Given the description of an element on the screen output the (x, y) to click on. 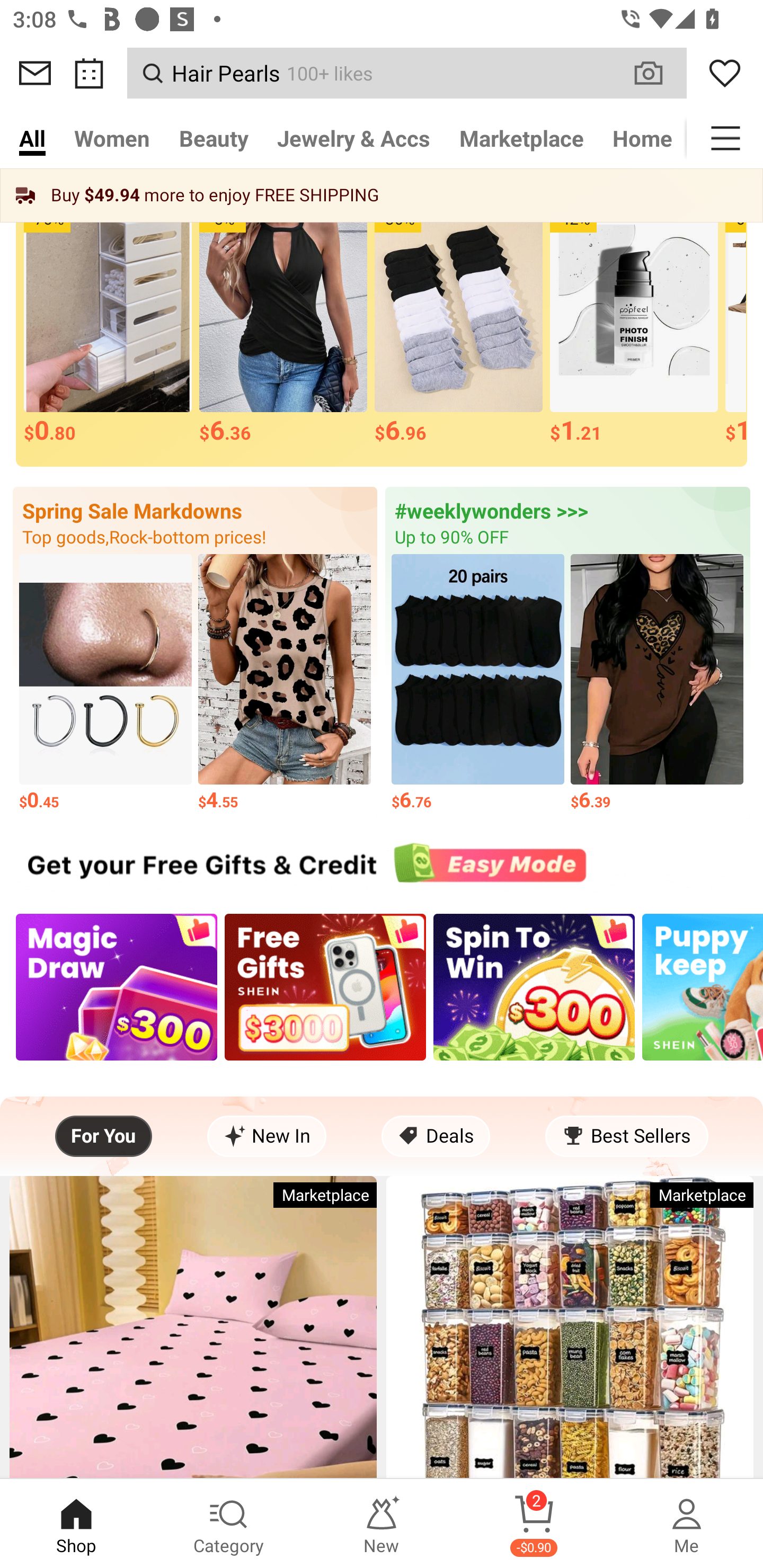
Wishlist (724, 72)
VISUAL SEARCH (657, 72)
All (31, 137)
Women (111, 137)
Beauty (213, 137)
Jewelry & Accs (353, 137)
Marketplace (521, 137)
Home (642, 137)
Buy $49.94 more to enjoy FREE SHIPPING (381, 194)
$0.45 Price $0.45 (105, 683)
$4.55 Price $4.55 (284, 683)
$6.76 Price $6.76 (477, 683)
$6.39 Price $6.39 (656, 683)
New In (266, 1136)
Deals (435, 1136)
Best Sellers (626, 1136)
Category (228, 1523)
New (381, 1523)
Cart 2 -$0.90 (533, 1523)
Me (686, 1523)
